Given the description of an element on the screen output the (x, y) to click on. 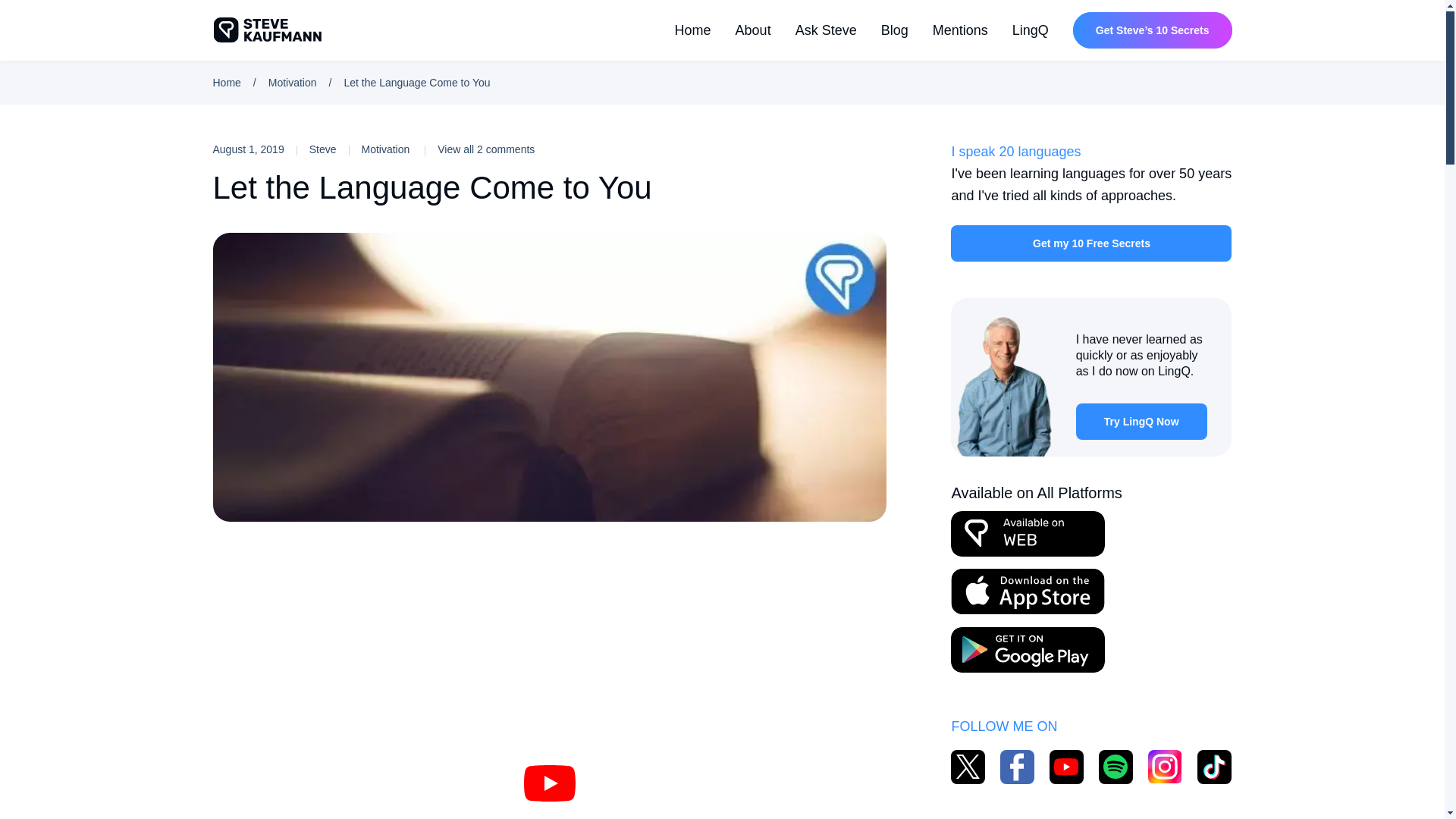
Follow Steve Kaufmann on Instagram (1165, 766)
Try LingQ Now (1141, 421)
Follow Steve Kaufmann on X (967, 766)
View all 2 comments (486, 149)
Motivation (393, 149)
Motivation posts (393, 149)
Get my 10 Free Secrets (1090, 243)
Home (226, 82)
Watch Steve Kaufmann on YouTube (1066, 766)
Try LingQ Now (1141, 421)
Ask Steve (825, 30)
Listen to Steve Kaufmann on Facebook (1115, 766)
Follow Steve Kaufmann on Facebook (1016, 766)
Motivation (292, 82)
